Given the description of an element on the screen output the (x, y) to click on. 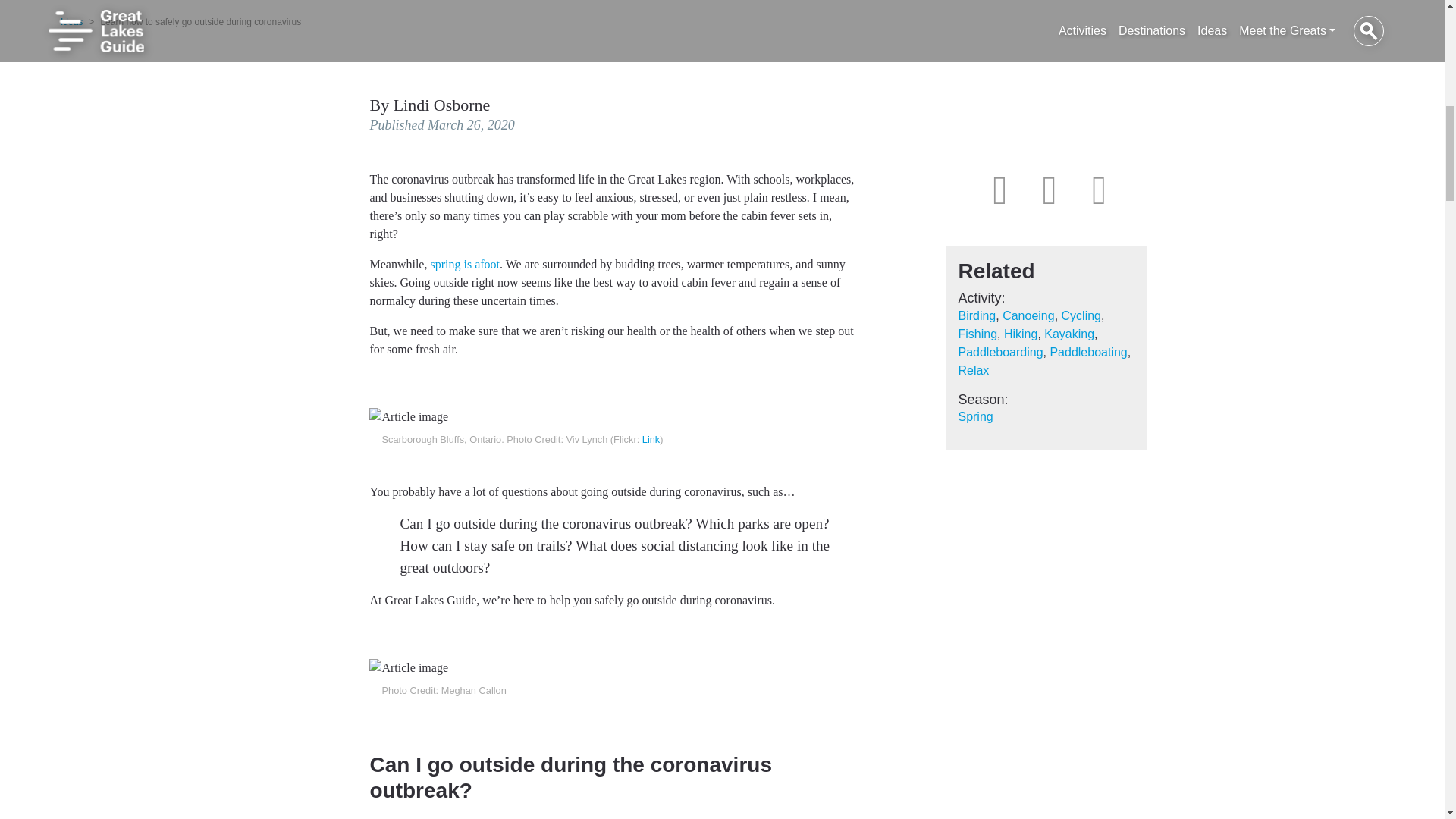
Link (650, 439)
Ideas (71, 21)
spring is afoot (464, 264)
